Given the description of an element on the screen output the (x, y) to click on. 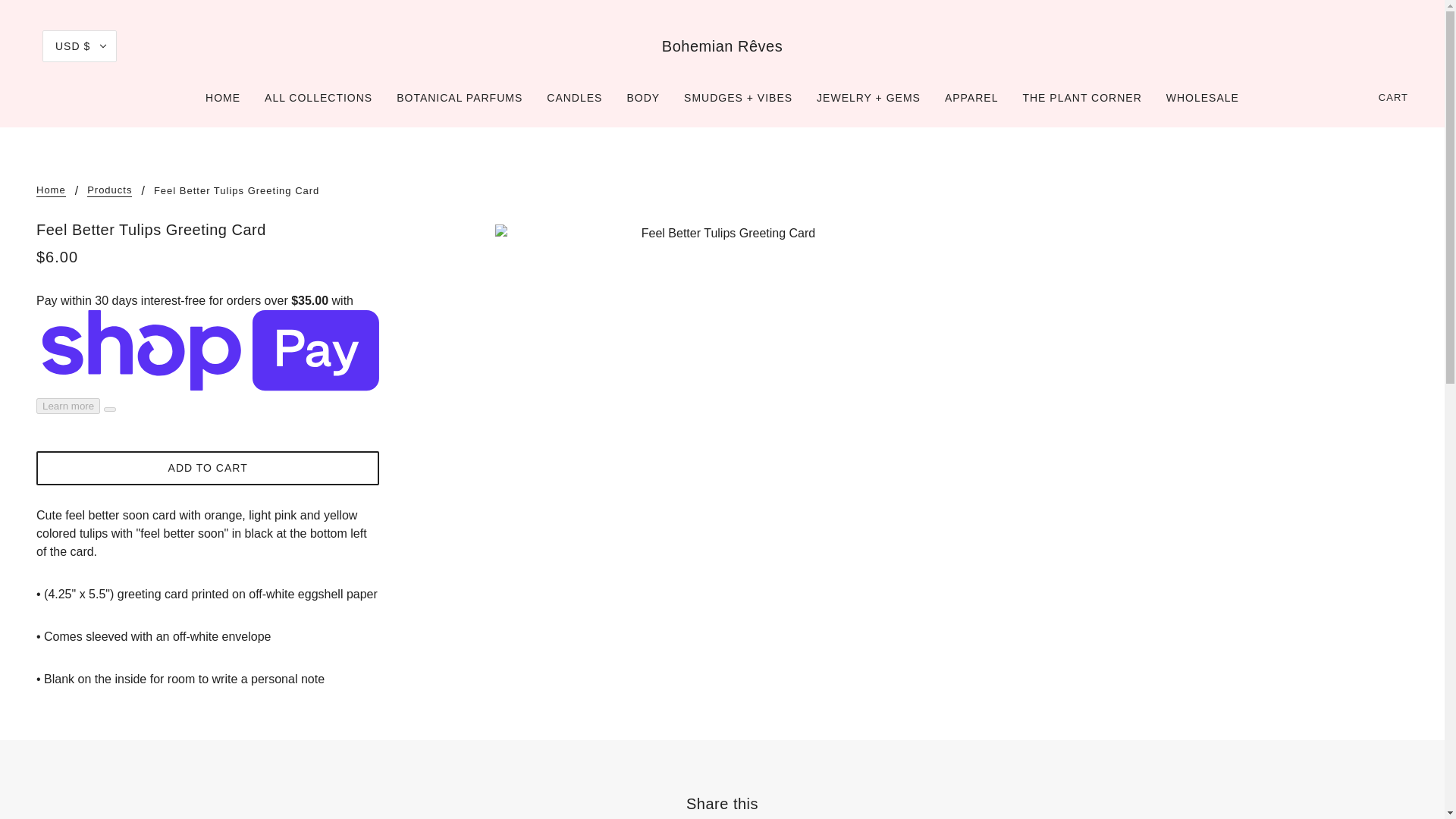
ADD TO CART (207, 468)
APPAREL (971, 103)
CANDLES (574, 103)
HOME (222, 103)
CART (1394, 97)
BOTANICAL PARFUMS (459, 103)
ALL COLLECTIONS (317, 103)
BODY (642, 103)
Products (109, 191)
THE PLANT CORNER (1081, 103)
